Given the description of an element on the screen output the (x, y) to click on. 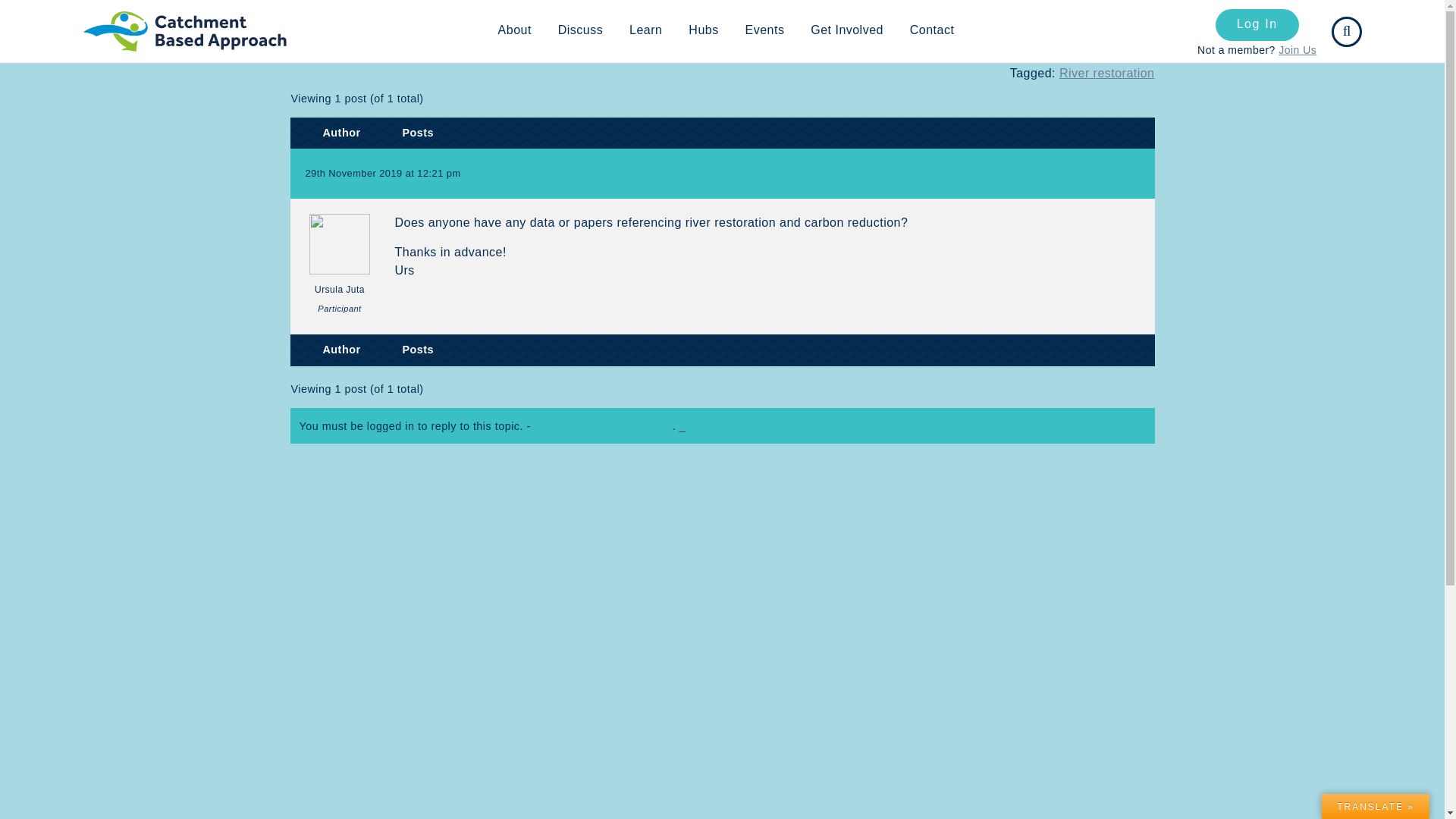
About (514, 30)
Events (764, 30)
Sign in to reply to this post (603, 426)
View Ursula Juta's profile (338, 266)
Join Us (1297, 50)
Learn (644, 30)
Get Involved (847, 30)
Not a member? Sign up (750, 426)
Ursula Juta (338, 266)
Discuss (156, 19)
Contact (932, 30)
Home (98, 19)
River restoration (1106, 72)
Hubs (703, 30)
Discuss (580, 30)
